Given the description of an element on the screen output the (x, y) to click on. 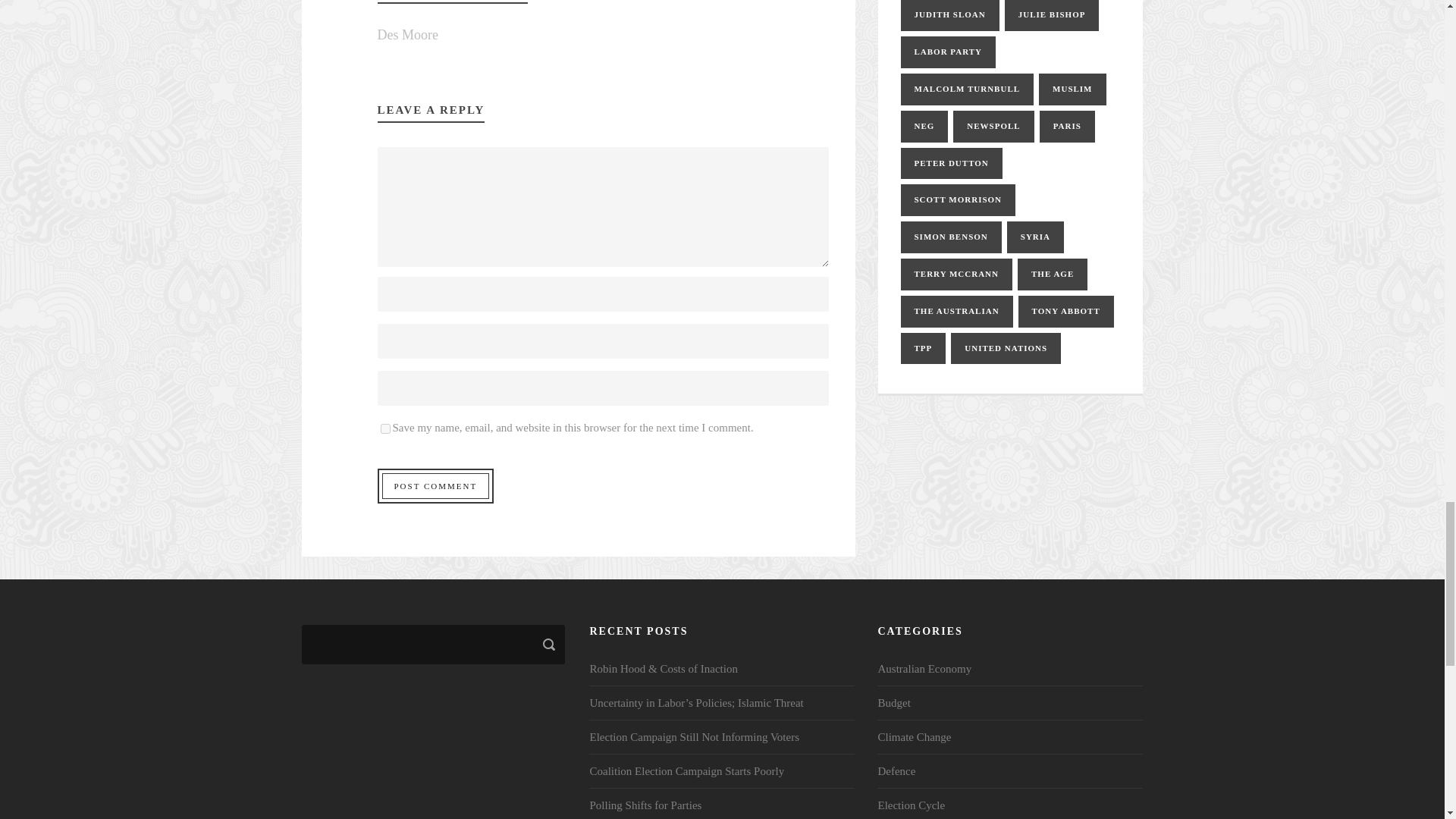
yes (385, 429)
Des Moore (407, 34)
Posts by Des Moore (407, 34)
Post Comment (436, 485)
Post Comment (436, 485)
